Given the description of an element on the screen output the (x, y) to click on. 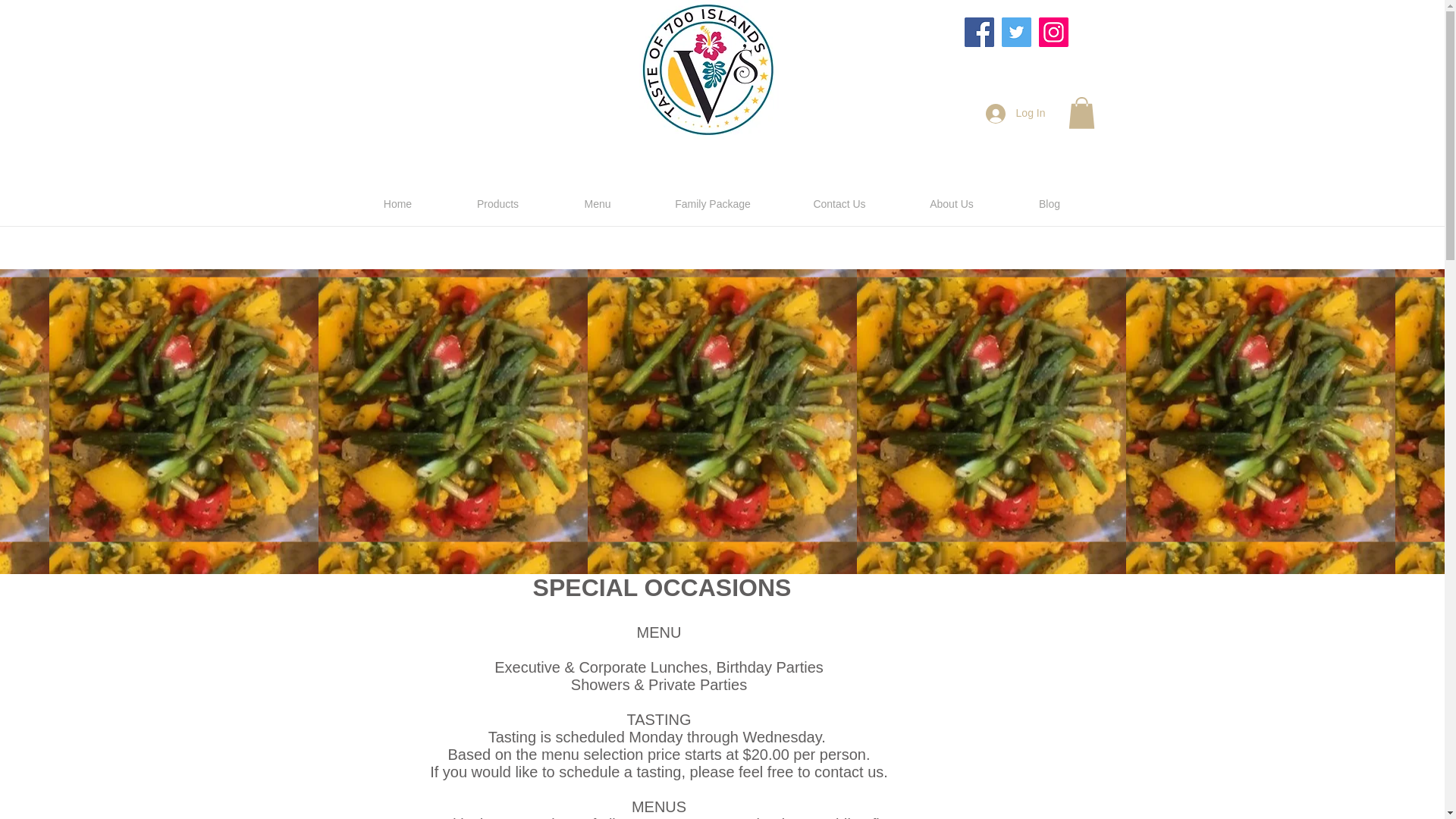
Menu (597, 203)
About Us (952, 203)
Home (397, 203)
Log In (1016, 112)
Family Package (712, 203)
Contact Us (839, 203)
Products (497, 203)
Blog (1049, 203)
